Given the description of an element on the screen output the (x, y) to click on. 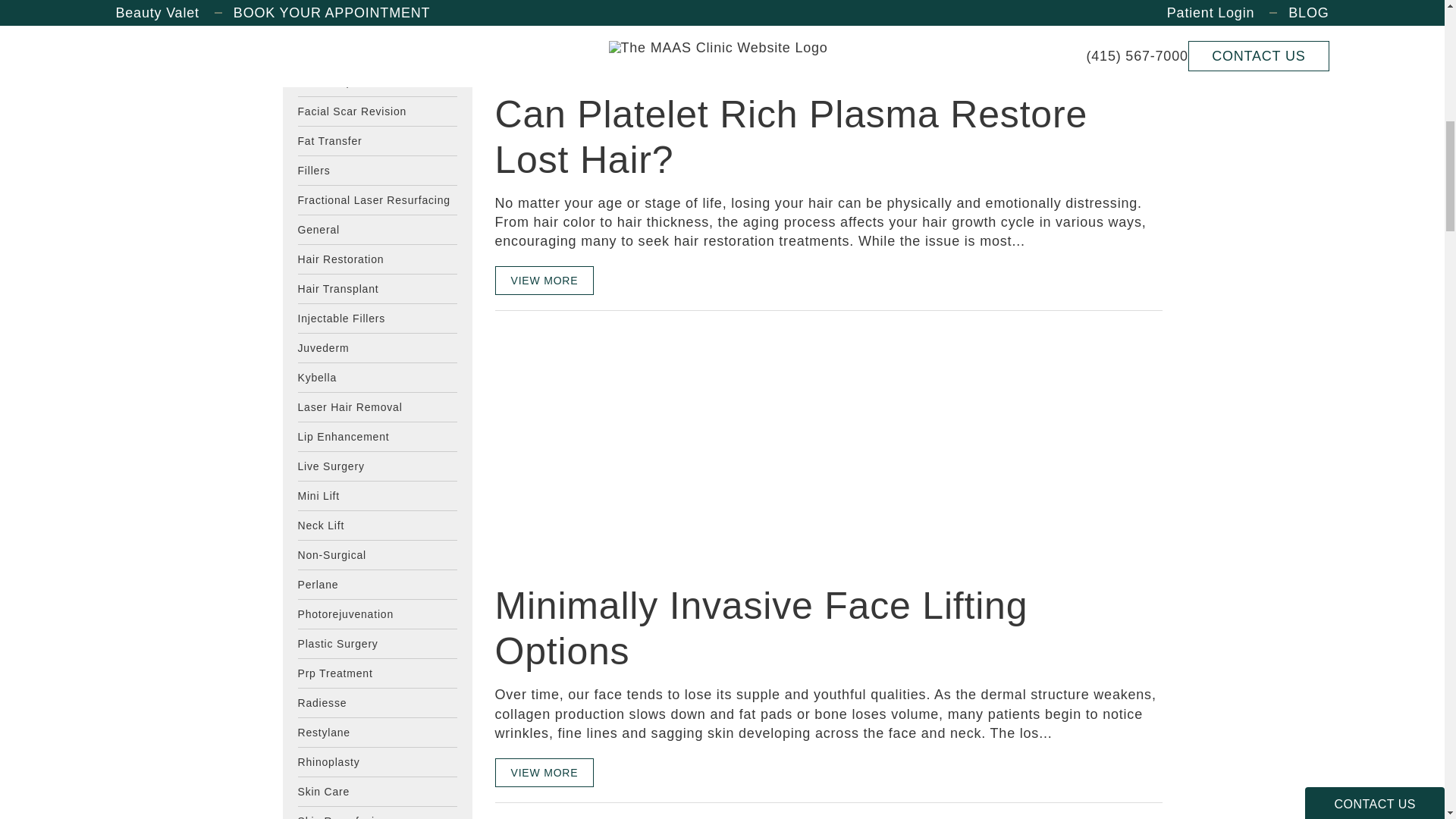
View full blog article (544, 772)
View full blog article (544, 18)
View blog article (608, 446)
View blog article (608, 69)
View full blog article (544, 280)
